Given the description of an element on the screen output the (x, y) to click on. 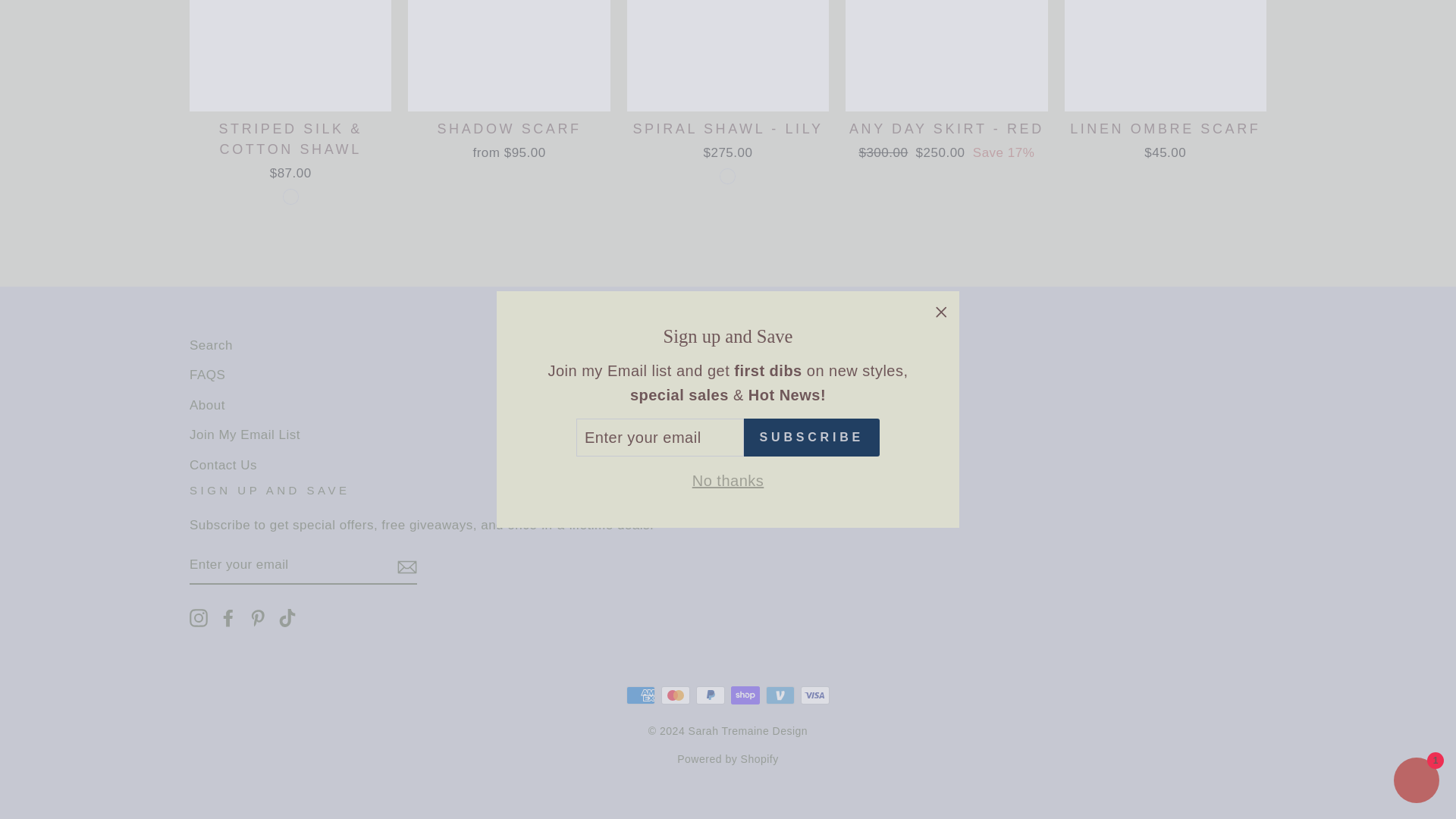
PayPal (710, 695)
Visa (814, 695)
Venmo (779, 695)
Mastercard (675, 695)
American Express (640, 695)
Shop Pay (745, 695)
